Given the description of an element on the screen output the (x, y) to click on. 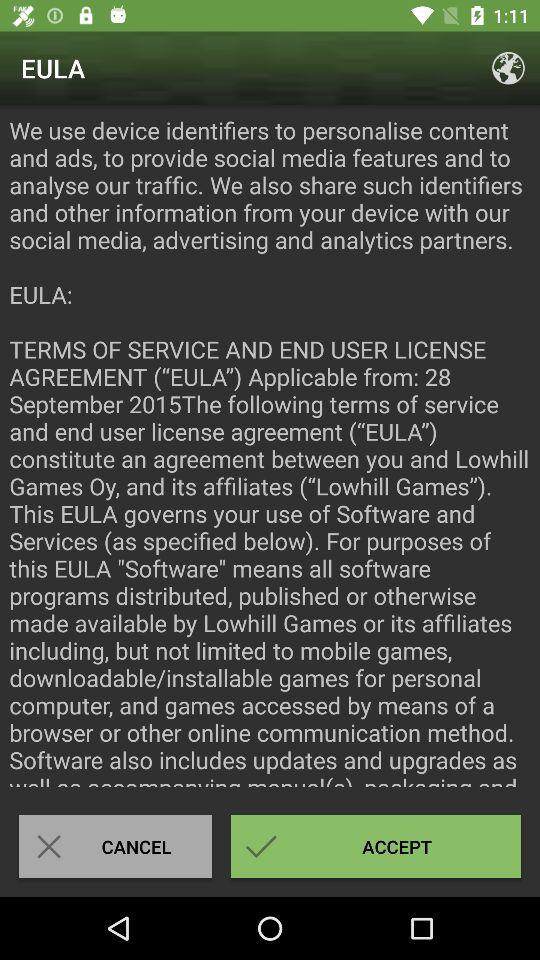
select cancel icon (115, 846)
